Given the description of an element on the screen output the (x, y) to click on. 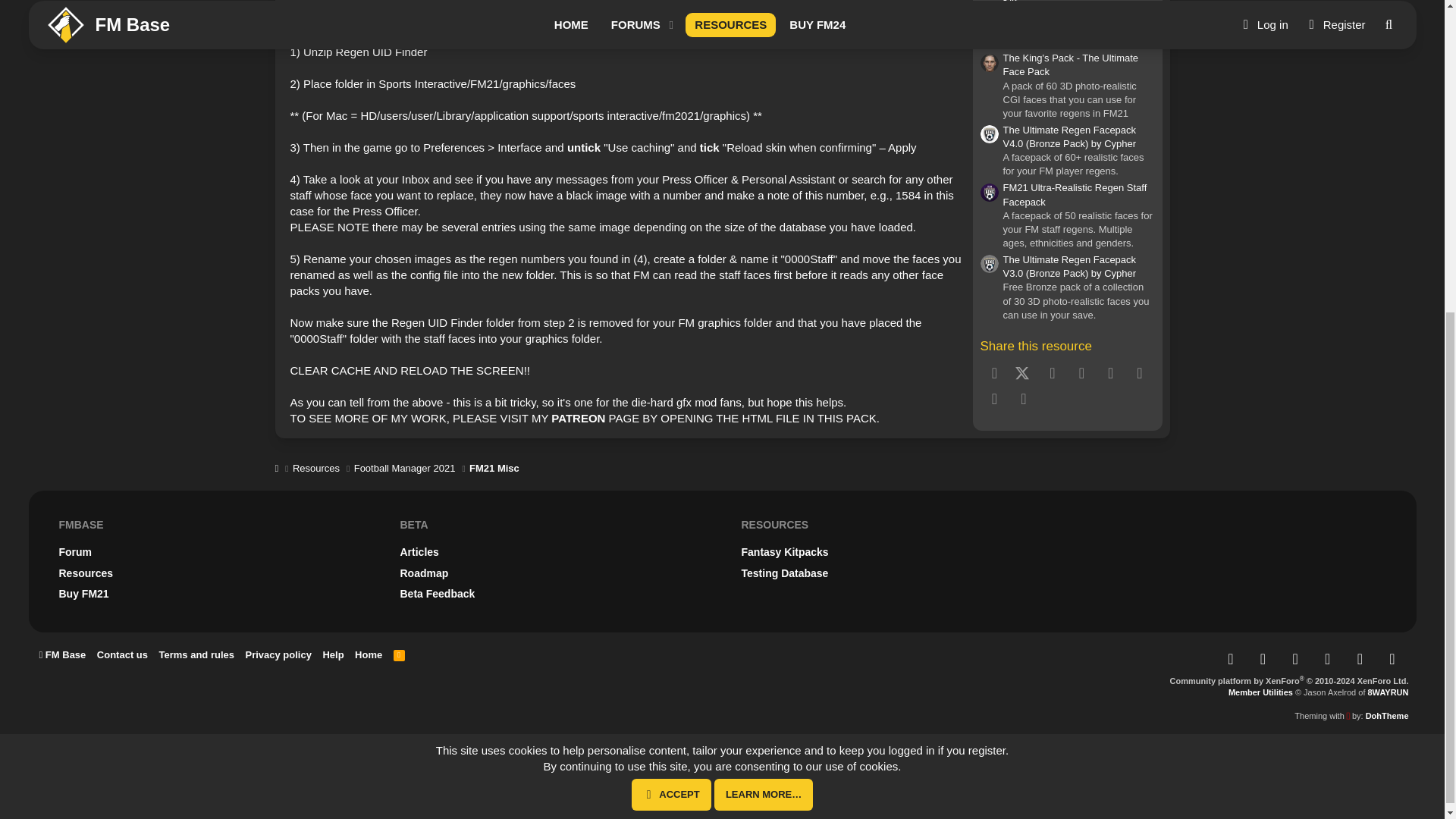
RSS (398, 654)
PATREON (578, 418)
